Given the description of an element on the screen output the (x, y) to click on. 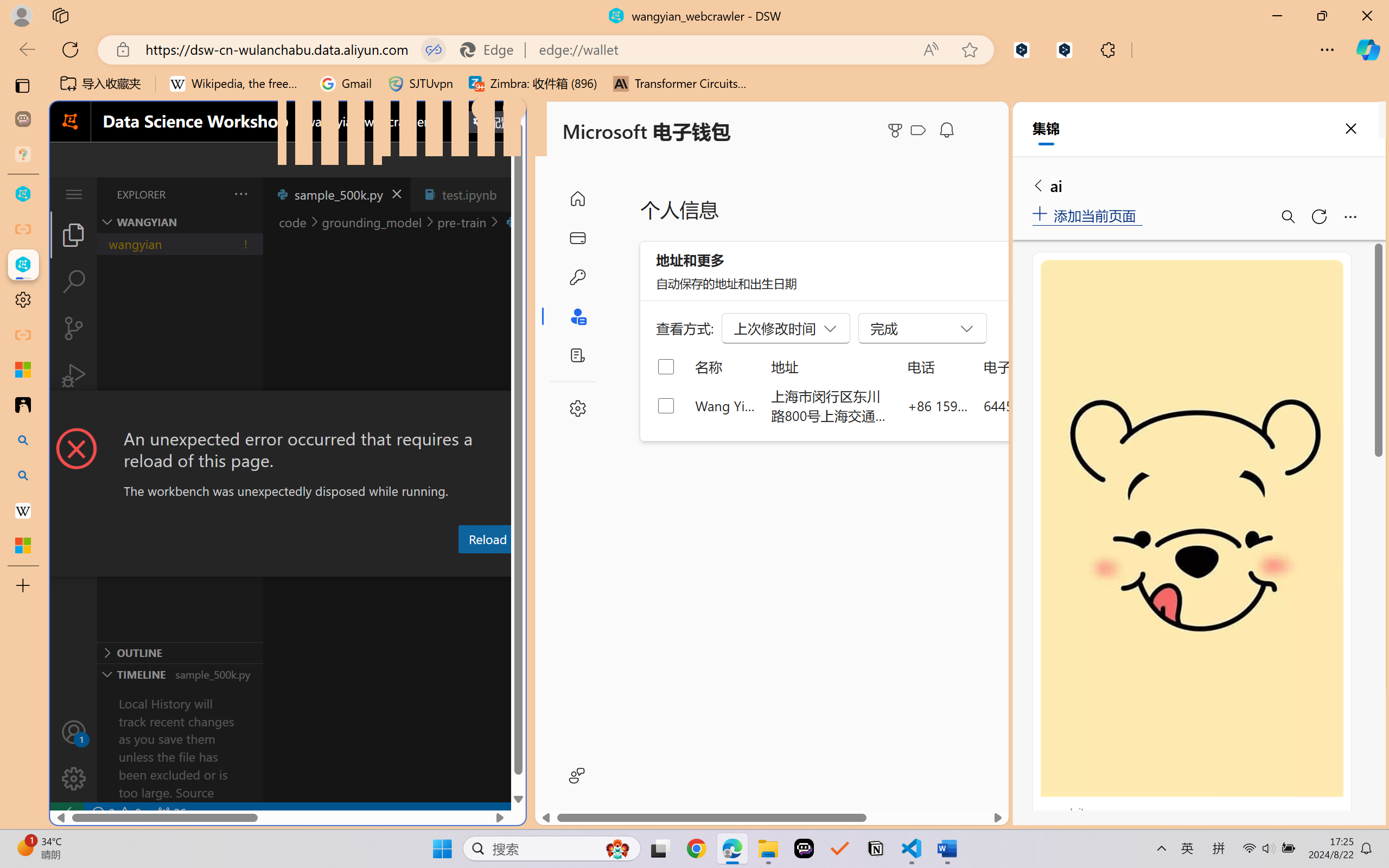
Wang Yian (725, 405)
Accounts - Sign in requested (73, 732)
Views and More Actions... (240, 193)
+86 159 0032 4640 (938, 405)
remote (66, 812)
